Given the description of an element on the screen output the (x, y) to click on. 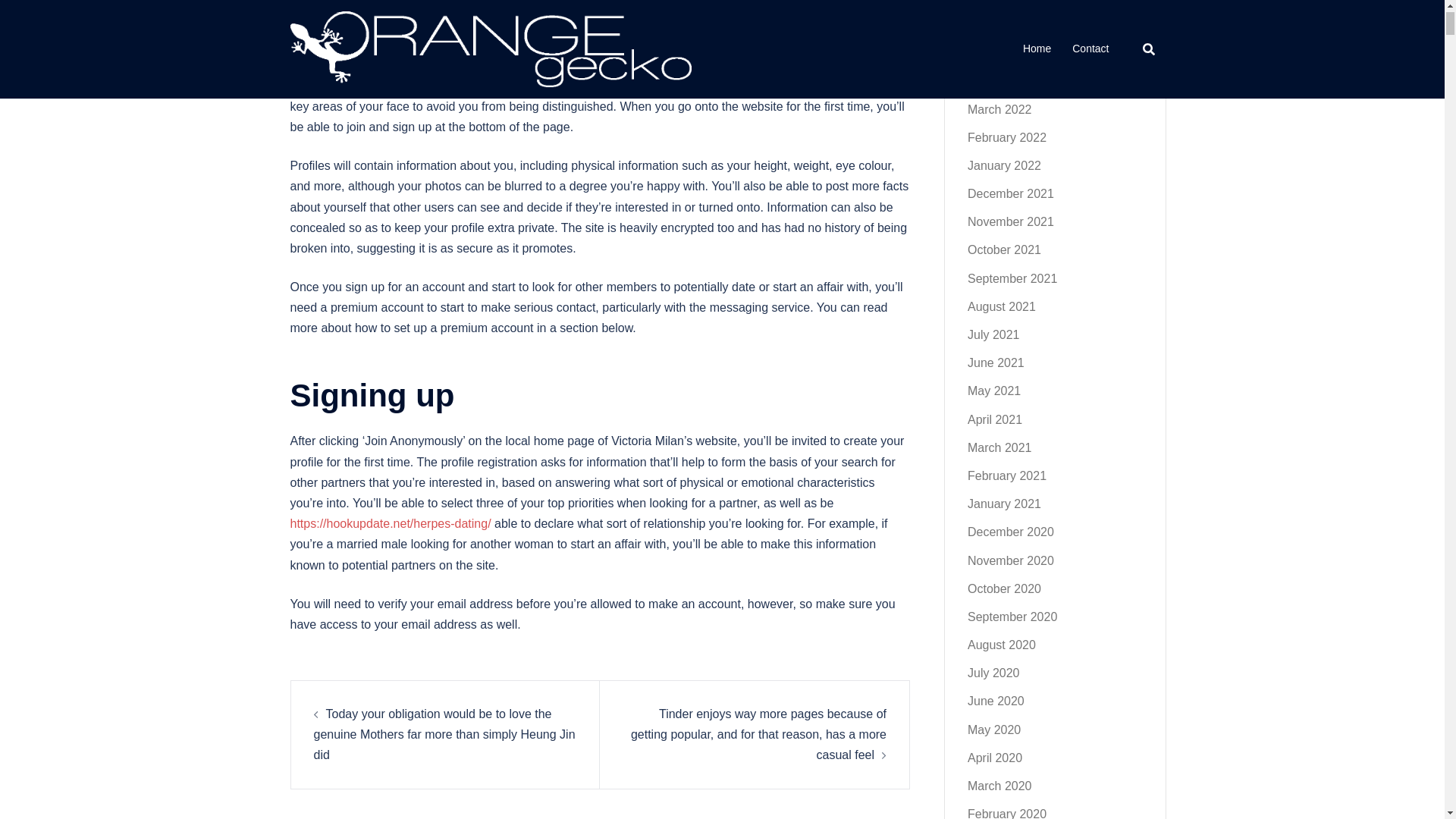
July 2021 (994, 334)
December 2021 (1011, 193)
September 2021 (1012, 278)
May 2021 (994, 390)
February 2022 (1007, 137)
October 2021 (1004, 249)
June 2021 (996, 362)
March 2021 (1000, 447)
April 2021 (995, 419)
April 2022 (995, 80)
August 2021 (1001, 306)
November 2021 (1011, 221)
March 2022 (1000, 109)
